Given the description of an element on the screen output the (x, y) to click on. 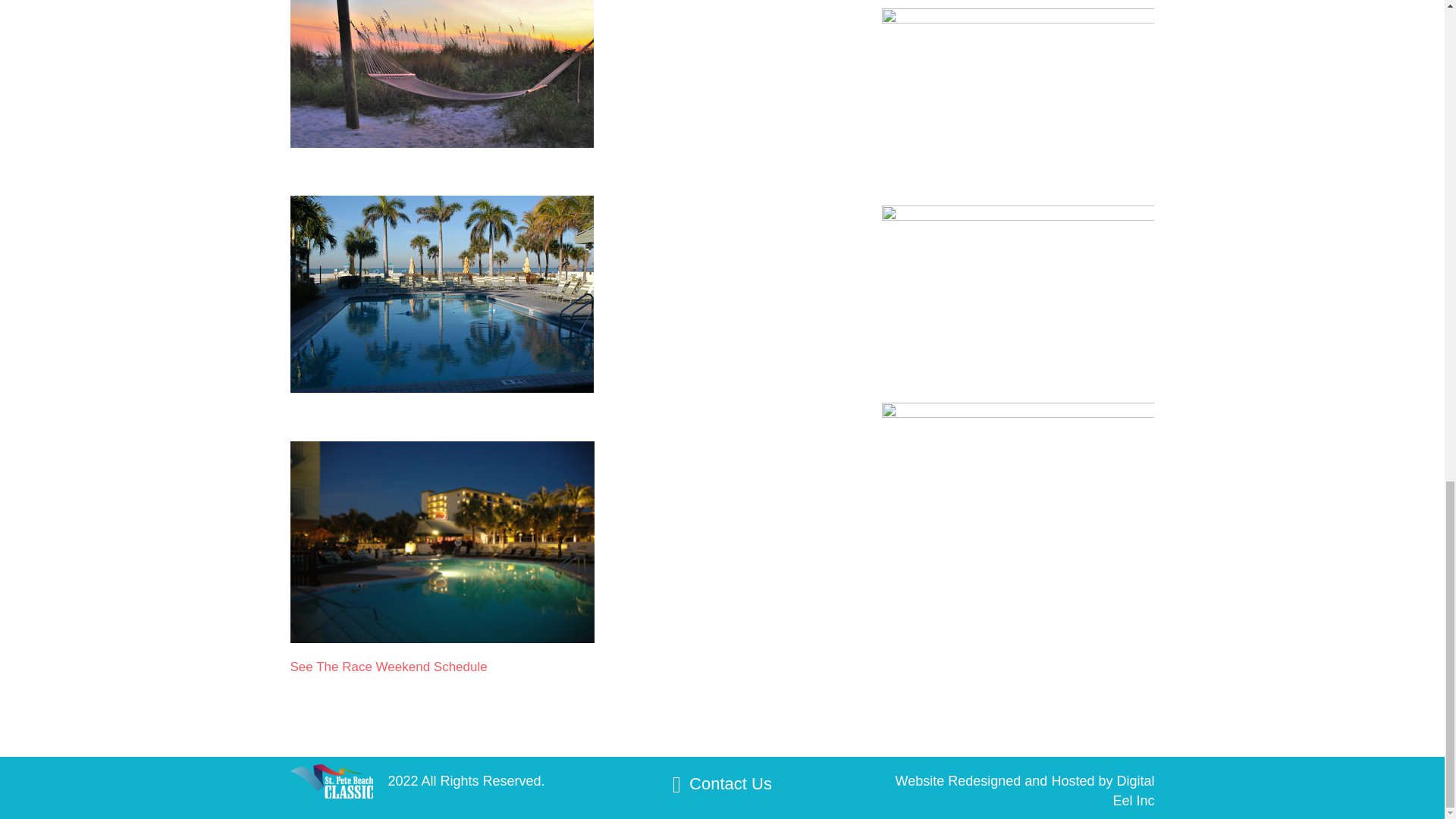
See The Race Weekend Schedule (387, 667)
Contact Us (729, 783)
